Given the description of an element on the screen output the (x, y) to click on. 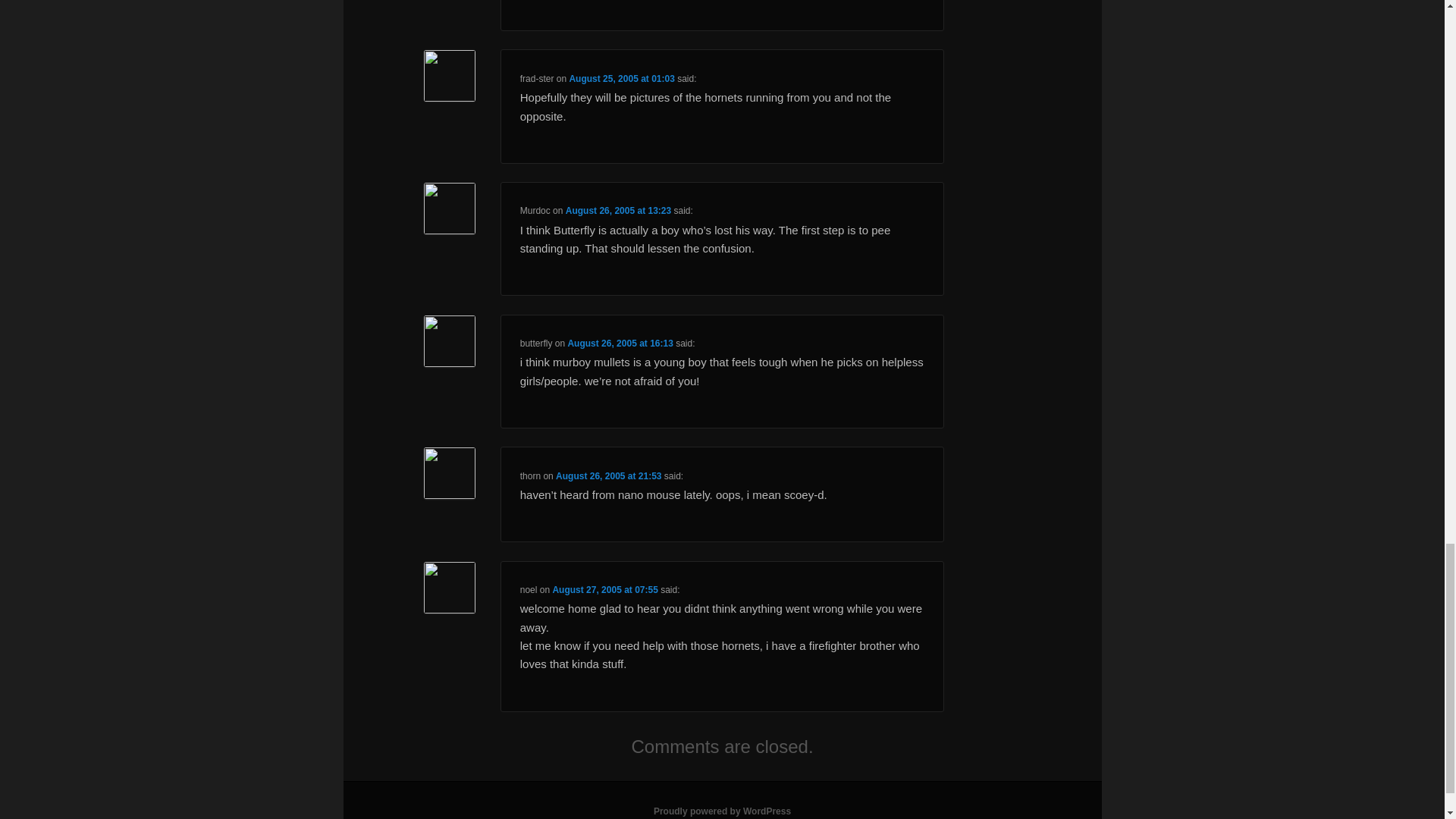
Semantic Personal Publishing Platform (721, 810)
August 27, 2005 at 07:55 (604, 589)
Proudly powered by WordPress (721, 810)
August 26, 2005 at 13:23 (618, 210)
August 26, 2005 at 16:13 (619, 343)
August 25, 2005 at 01:03 (621, 78)
August 26, 2005 at 21:53 (608, 475)
